Given the description of an element on the screen output the (x, y) to click on. 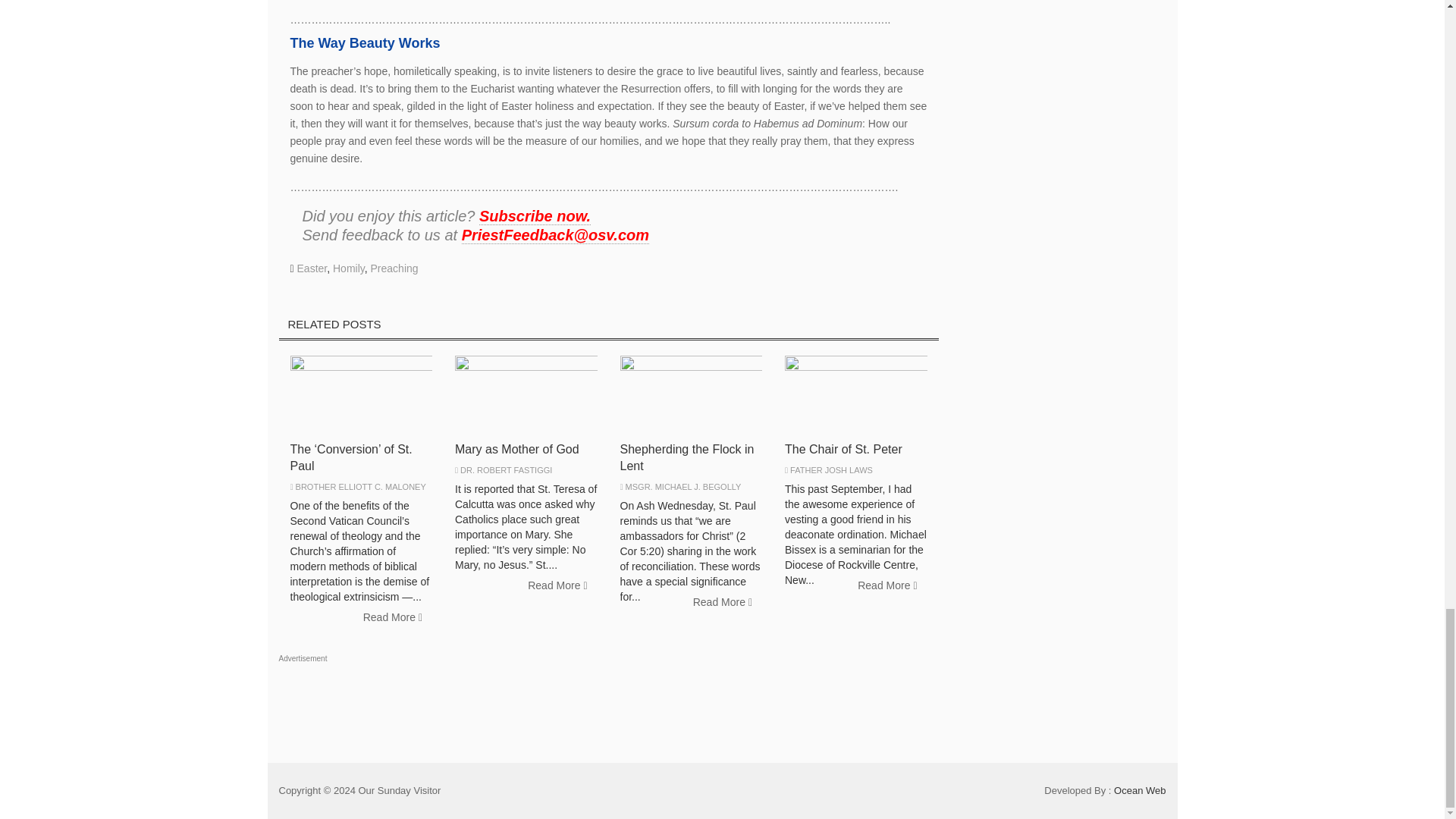
Mary as Mother of God (516, 449)
Read More (886, 585)
Homily (349, 268)
BROTHER ELLIOTT C. MALONEY (360, 486)
Read More (392, 617)
MSGR. MICHAEL J. BEGOLLY (683, 486)
Shepherding the Flock in Lent (687, 457)
Subscribe now. (535, 216)
Preaching (395, 268)
Read More (557, 585)
Easter (312, 268)
FATHER JOSH LAWS (831, 470)
DR. ROBERT FASTIGGI (505, 470)
The Chair of St. Peter (843, 449)
Read More (721, 602)
